Given the description of an element on the screen output the (x, y) to click on. 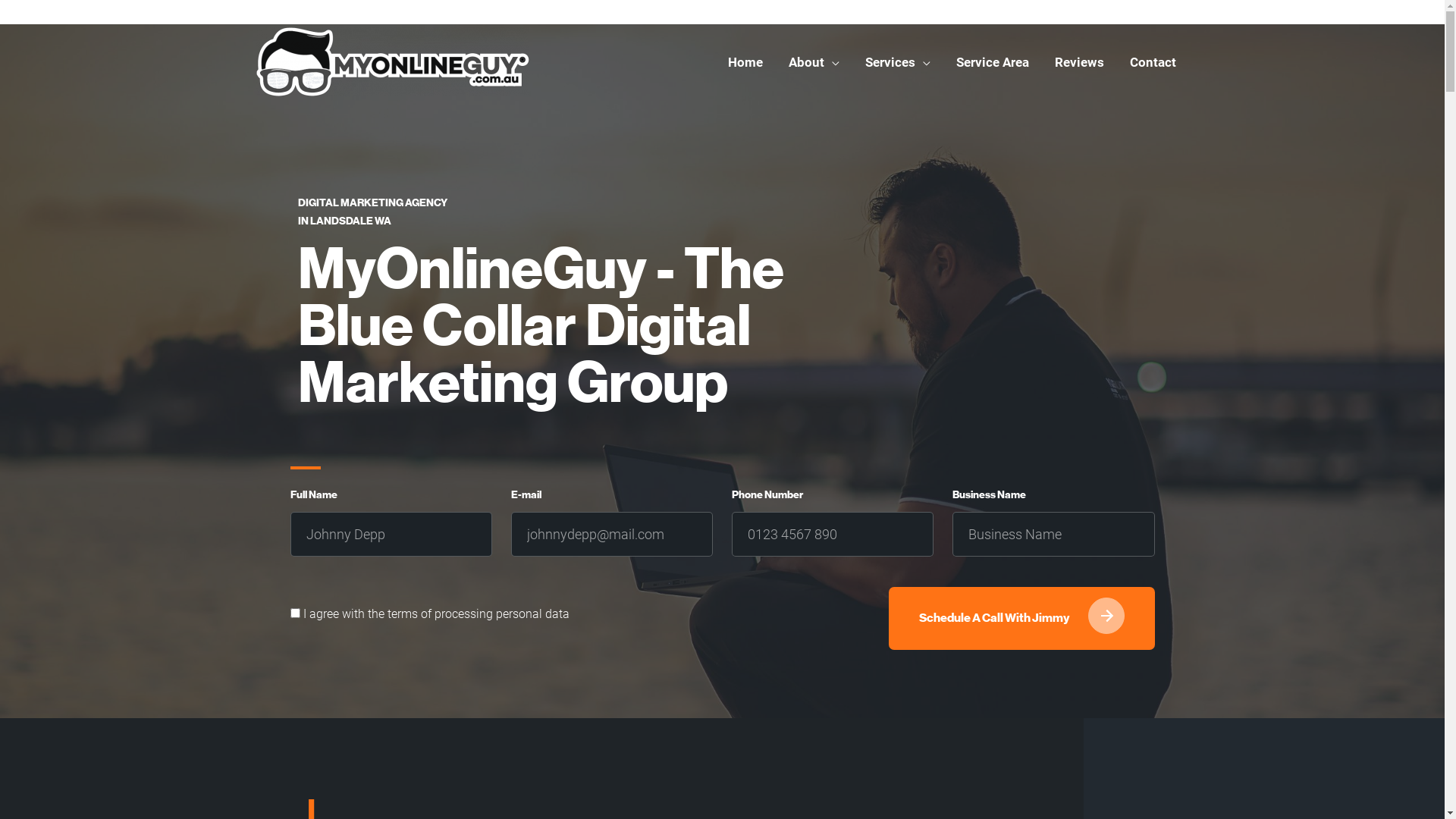
Reviews Element type: text (1079, 61)
Contact Element type: text (1152, 61)
About Element type: text (813, 61)
Service Area Element type: text (992, 61)
Services Element type: text (897, 61)
Home Element type: text (744, 61)
